Given the description of an element on the screen output the (x, y) to click on. 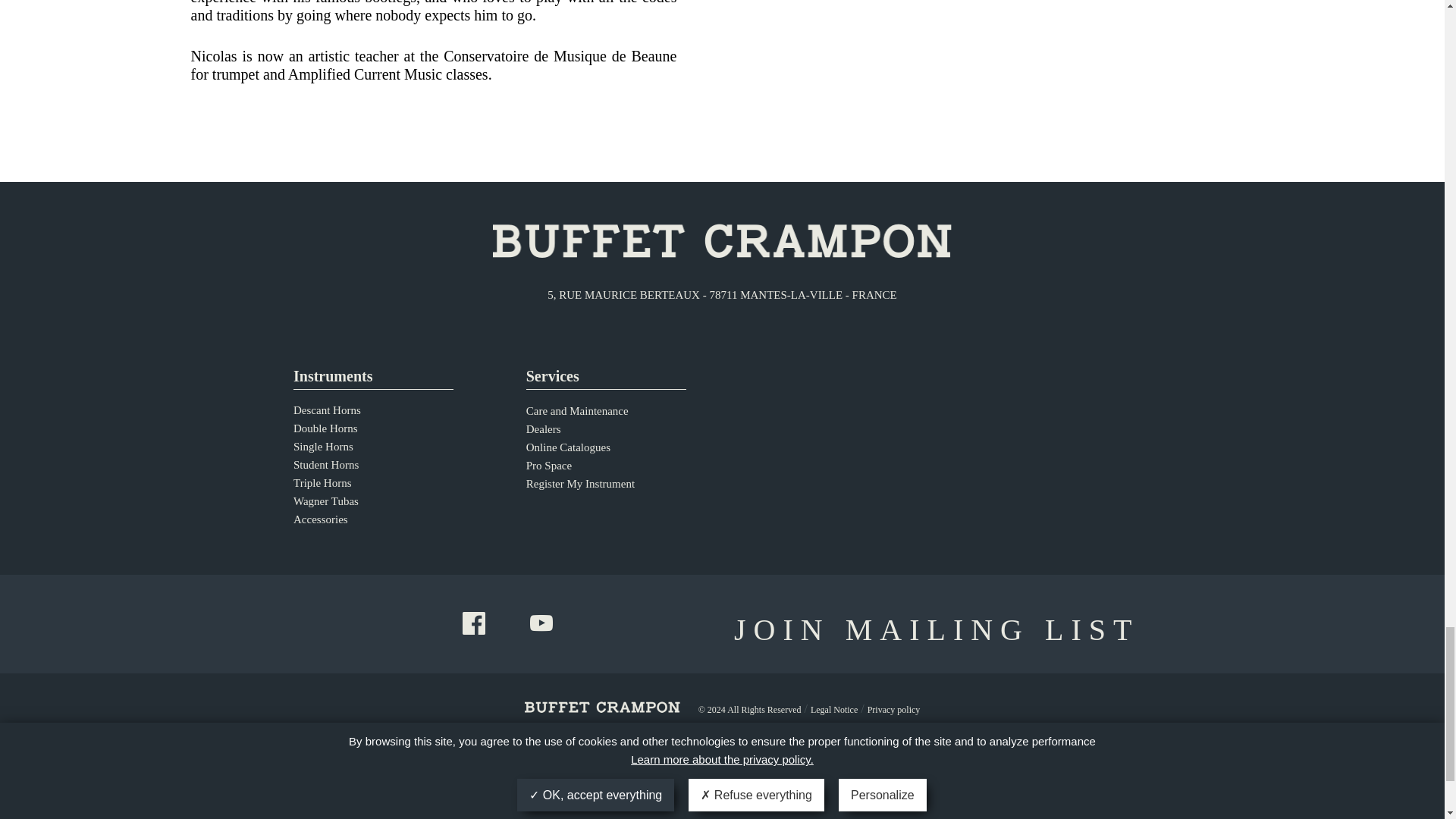
Buffet Crampon (332, 797)
Powell Flutes Boston (956, 799)
Antoine Courtois (566, 799)
Keilwerth (643, 798)
Rigoutat (1033, 799)
Melton Meinl Weston (721, 796)
W. Schreiber (878, 796)
J. Scherzer (800, 796)
Besson (410, 796)
Instruments (373, 377)
Parmenon (1112, 799)
